Given the description of an element on the screen output the (x, y) to click on. 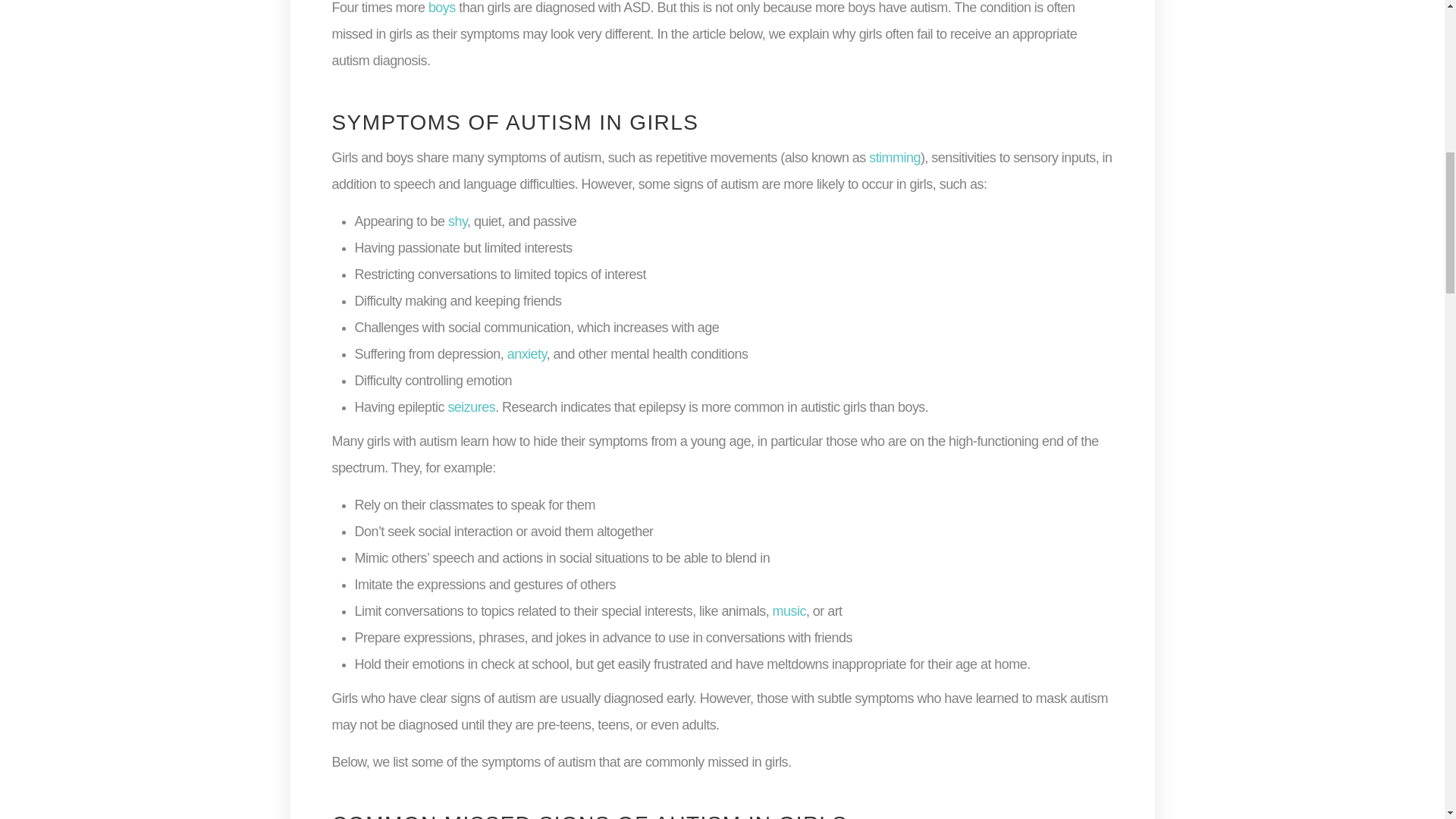
shy (457, 221)
anxiety (526, 353)
stimming (894, 157)
music (789, 611)
seizures (470, 406)
boys (441, 7)
